Given the description of an element on the screen output the (x, y) to click on. 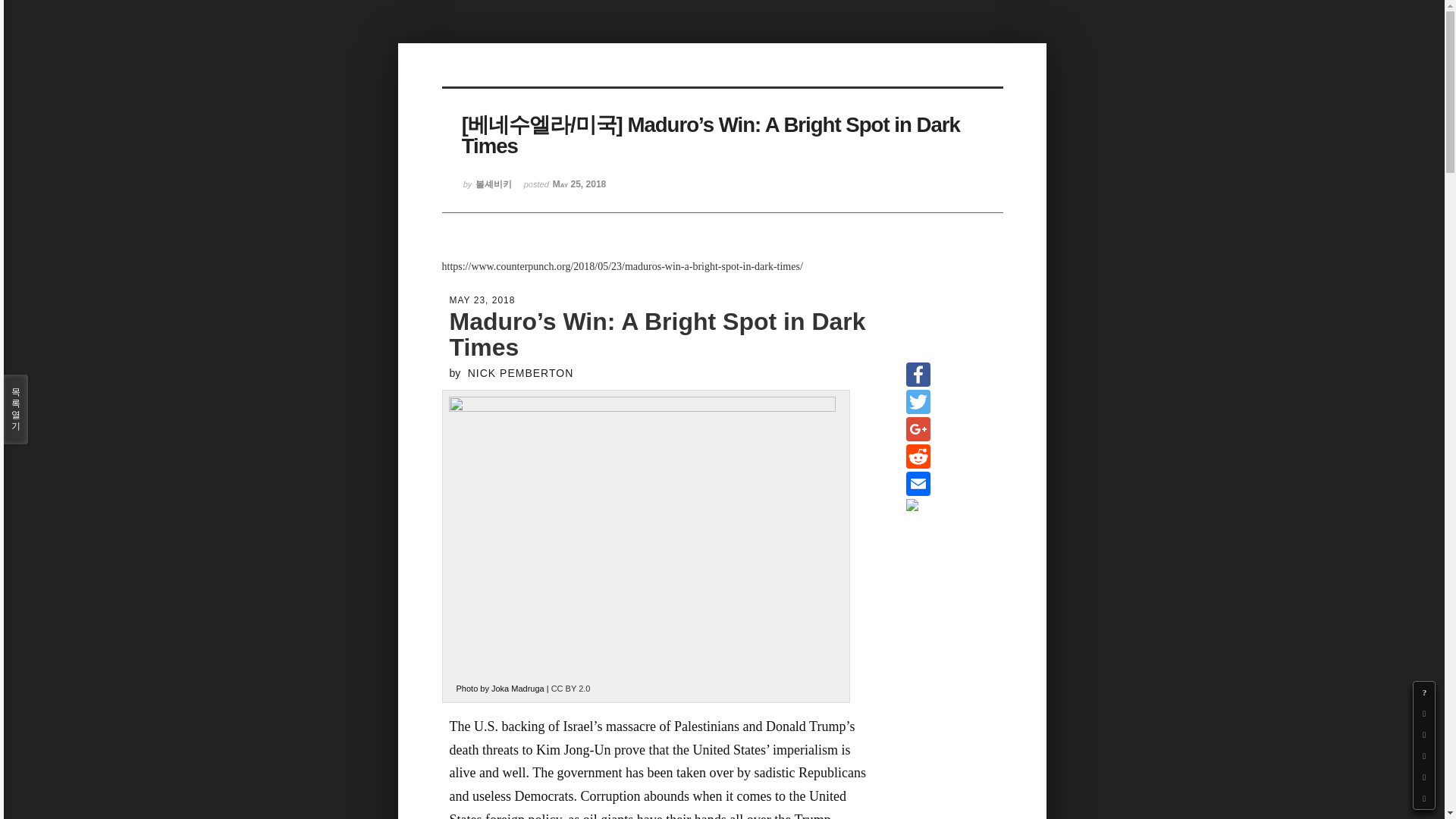
Print This Post (911, 504)
? (1423, 691)
NICK PEMBERTON (520, 376)
Reddit (917, 456)
2018-05-23 (481, 299)
Twitter (917, 401)
Email (917, 483)
2018.05.25 02:05 (565, 190)
CC BY 2.0 (571, 687)
Facebook (917, 374)
